Given the description of an element on the screen output the (x, y) to click on. 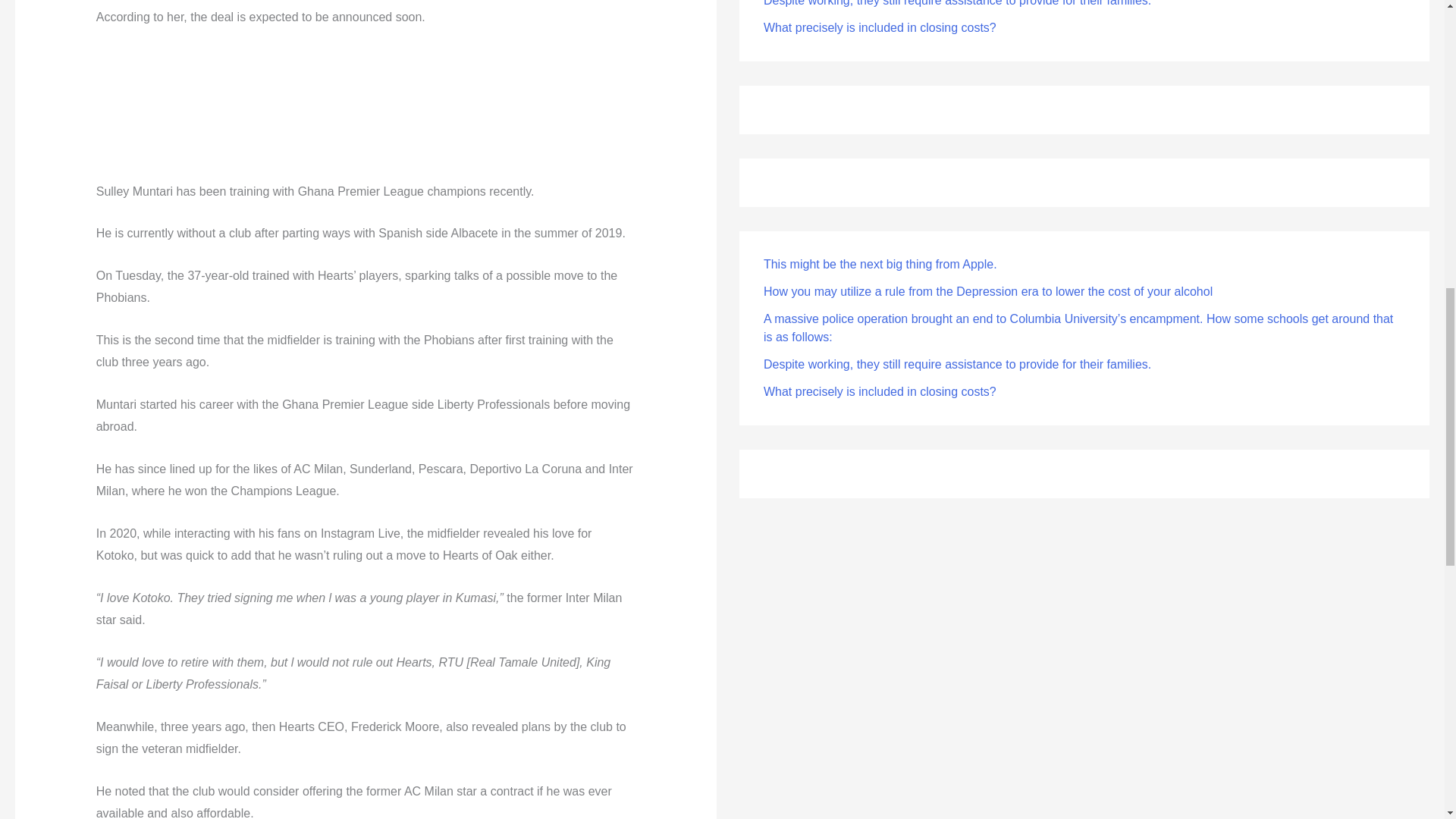
What precisely is included in closing costs? (878, 27)
This might be the next big thing from Apple. (879, 264)
What precisely is included in closing costs? (878, 391)
